Given the description of an element on the screen output the (x, y) to click on. 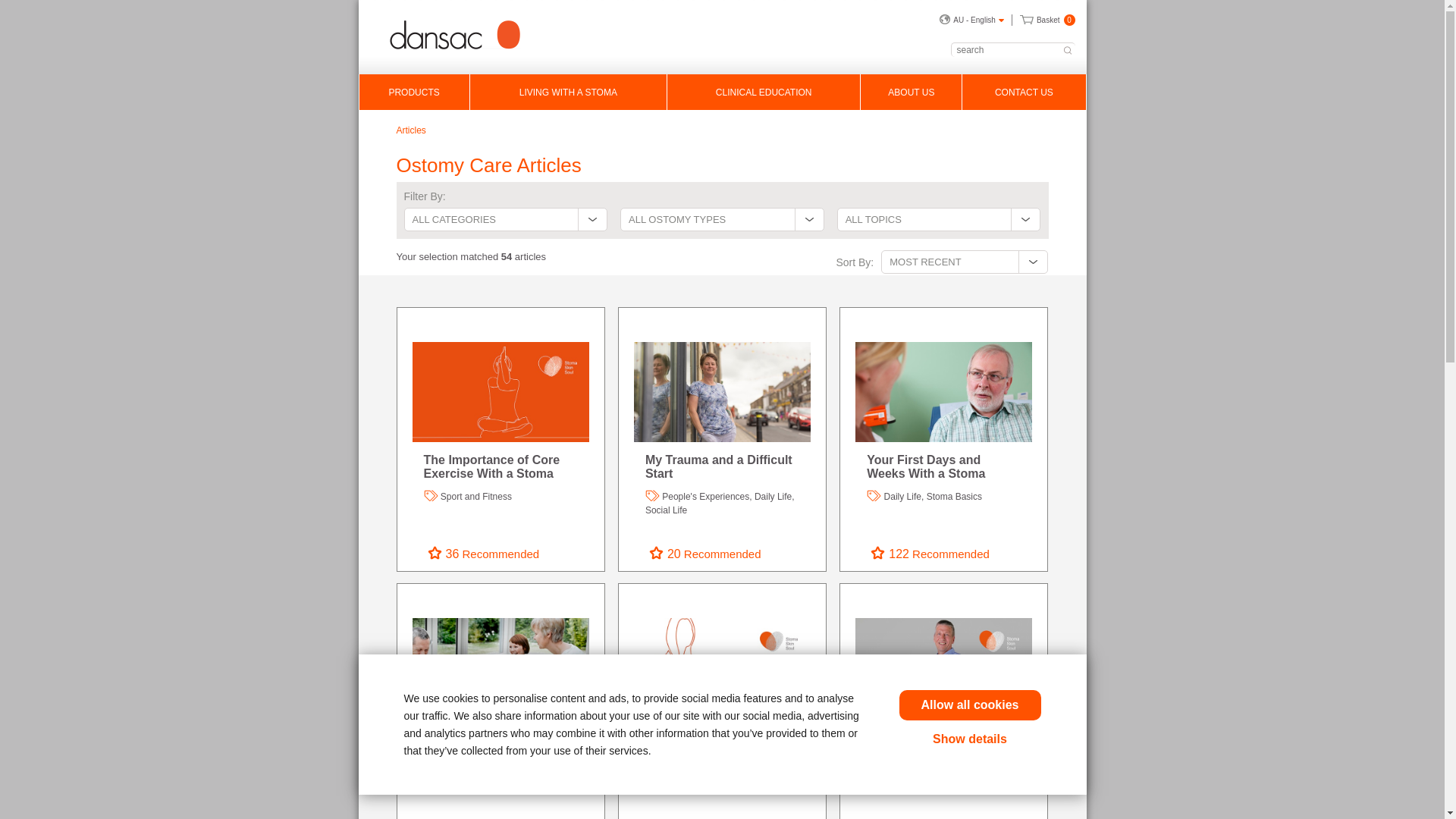
CLINICAL EDUCATION Element type: text (763, 91)
PRODUCTS Element type: text (414, 91)
MOST RECENT Element type: text (964, 261)
ABOUT US Element type: text (910, 91)
Allow all cookies Element type: text (970, 705)
ALL OSTOMY TYPES Element type: text (722, 219)
CONTACT US Element type: text (1023, 91)
search Element type: text (1066, 50)
ALL TOPICS Element type: text (939, 219)
AU - English Element type: text (971, 19)
ALL CATEGORIES Element type: text (505, 219)
Articles Element type: text (410, 130)
LIVING WITH A STOMA Element type: text (568, 91)
0
Basket Element type: text (1047, 19)
